Given the description of an element on the screen output the (x, y) to click on. 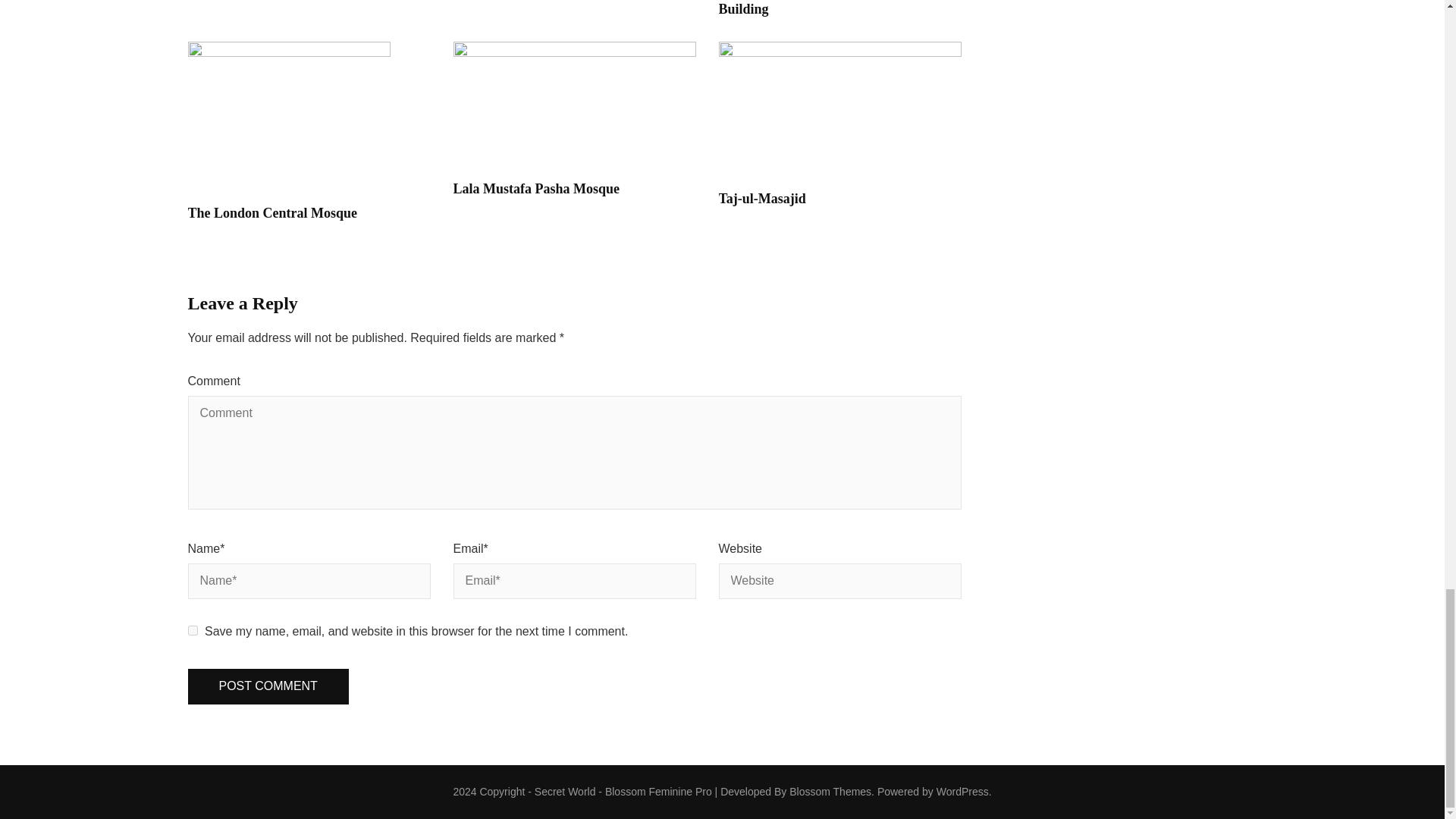
yes (192, 630)
Post Comment (268, 686)
